Given the description of an element on the screen output the (x, y) to click on. 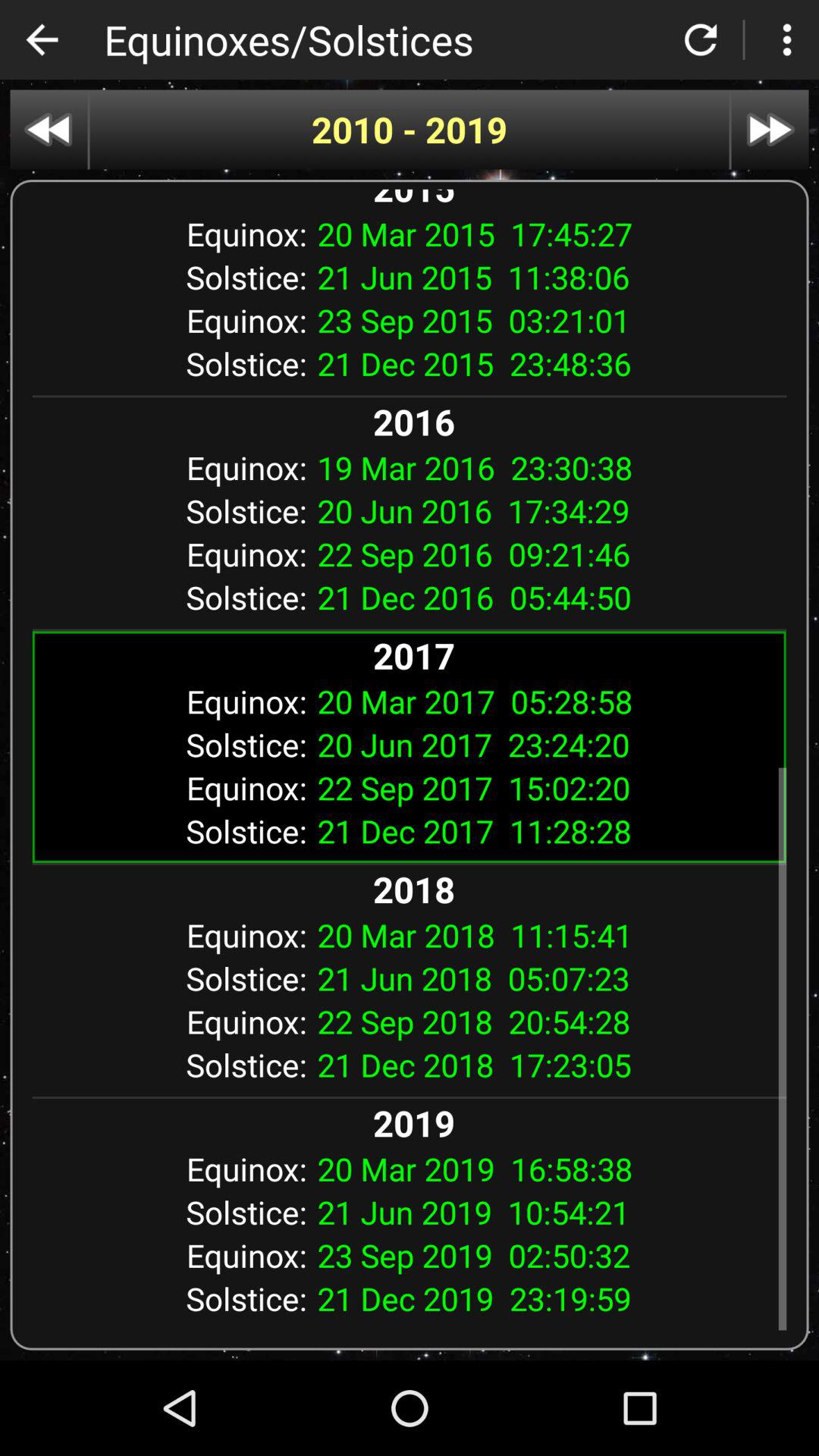
open settings menu (787, 39)
